Given the description of an element on the screen output the (x, y) to click on. 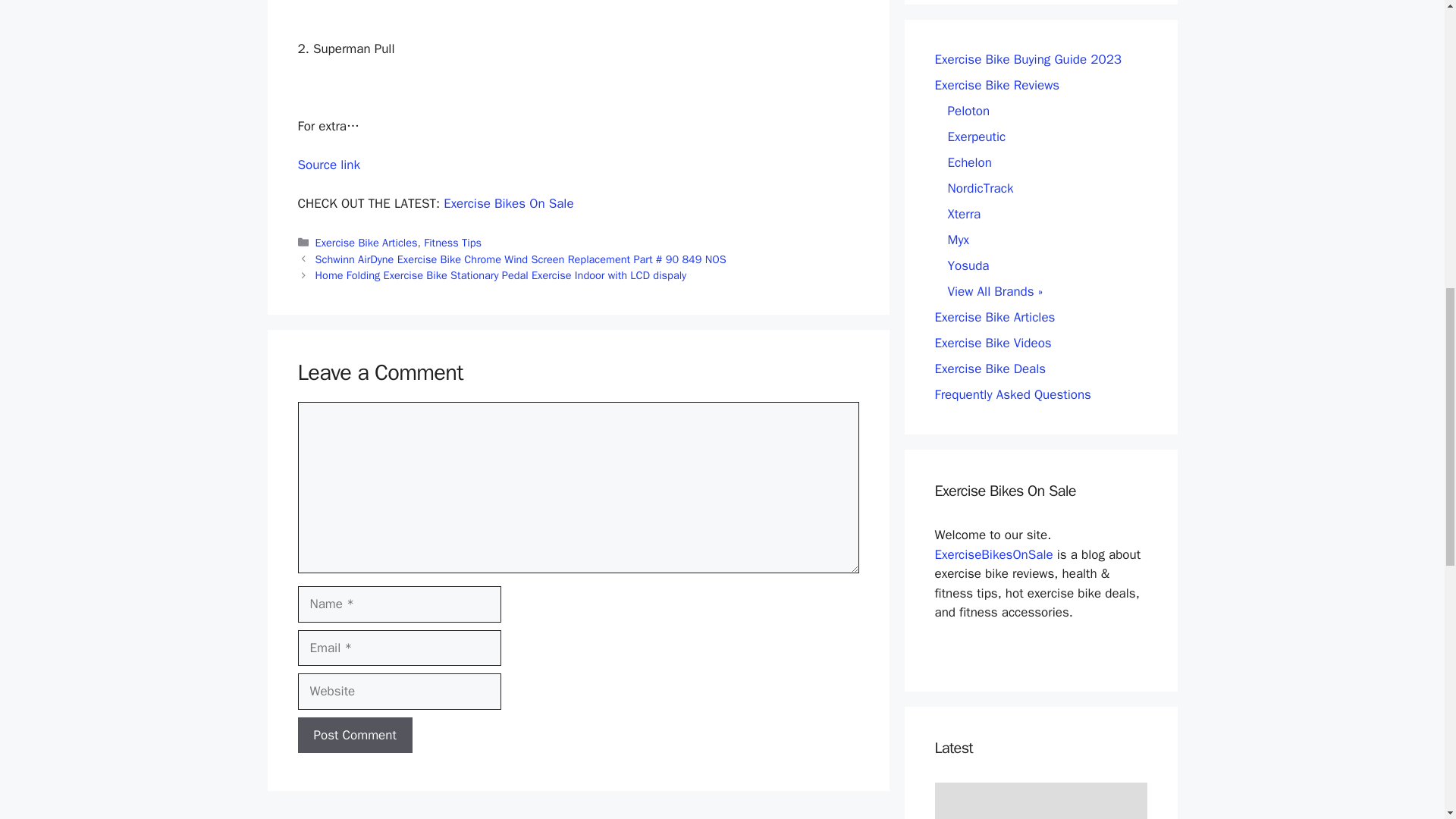
Peloton (968, 110)
Exercise Bike Videos (992, 342)
Exercise Bike Reviews (996, 84)
Exercise Bike Buying Guide 2023 (1027, 59)
Frequently Asked Questions (1012, 394)
Source link (328, 164)
Exercise Bike Articles (366, 242)
ExerciseBikesOnSale (993, 554)
Post Comment (354, 735)
Exercise Bikes On Sale (508, 203)
How to Buy an Under Desk Bike, Find Perfect Pedal Exerciser (1040, 800)
Xterra (964, 213)
NordicTrack (980, 188)
Myx (958, 239)
Fitness Tips (452, 242)
